Given the description of an element on the screen output the (x, y) to click on. 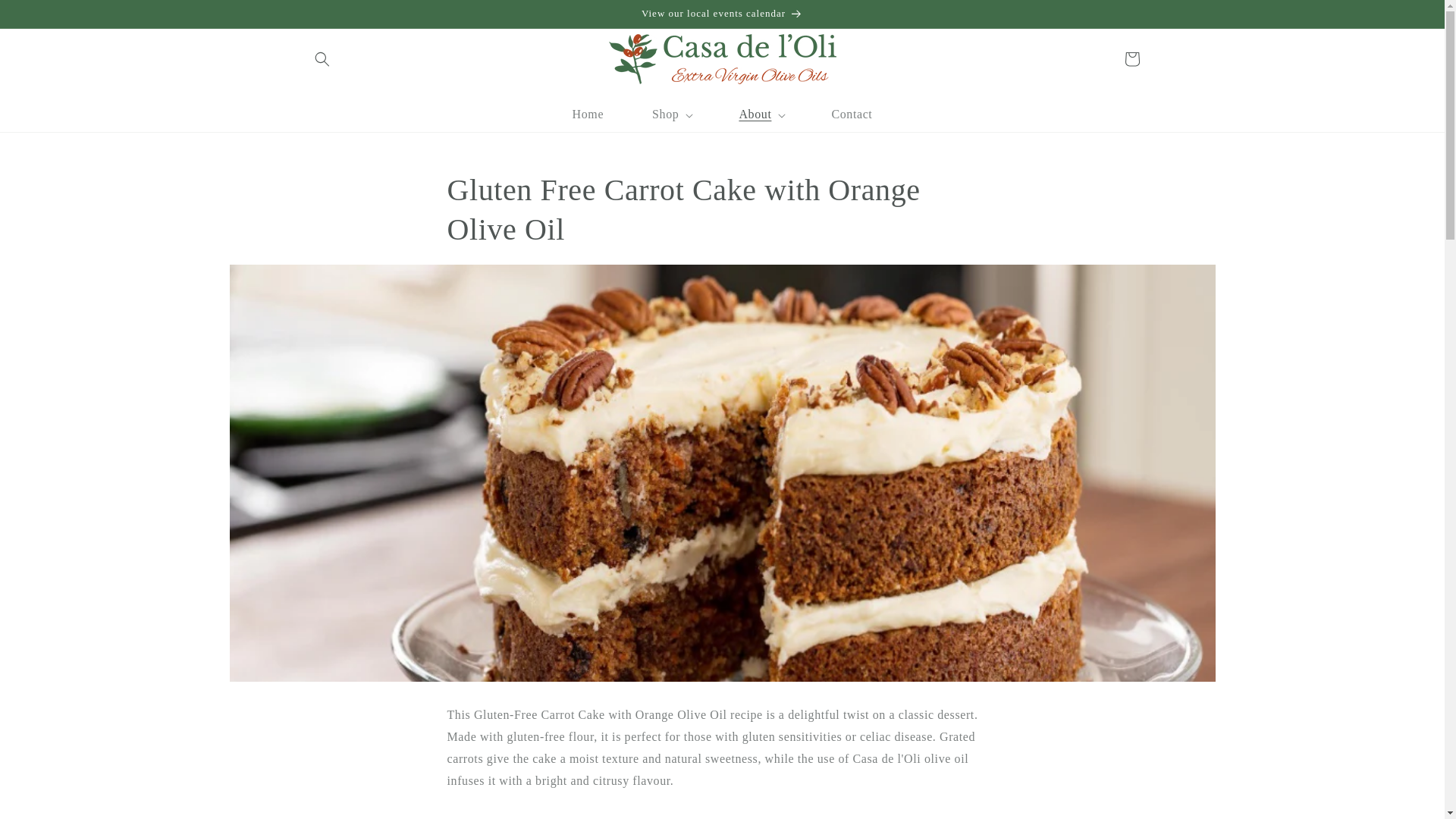
Home (587, 114)
Contact (851, 114)
Skip to content (45, 17)
